Given the description of an element on the screen output the (x, y) to click on. 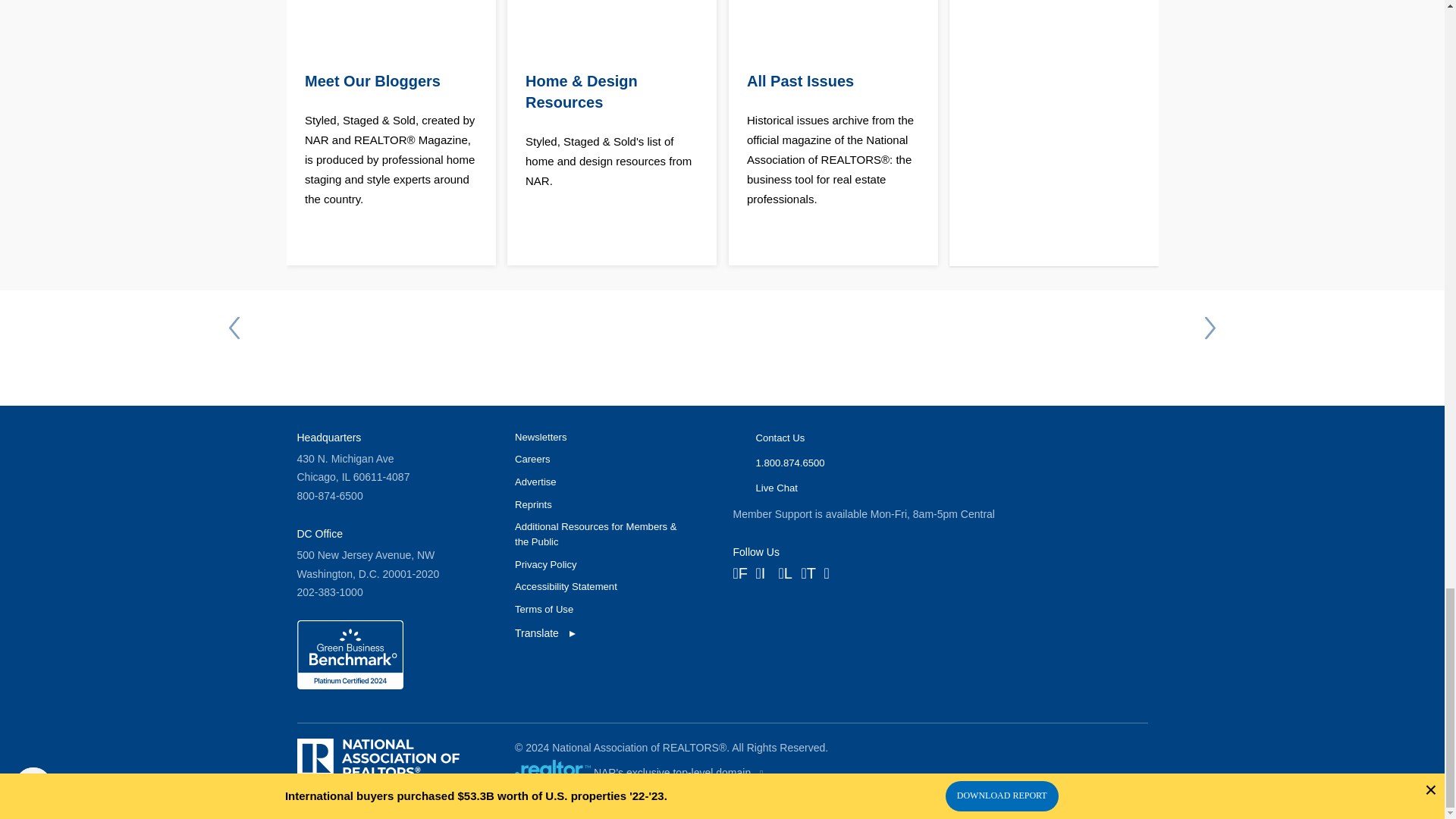
Green Business Benchmark (350, 685)
NAR's exclusive top-level domain. (553, 768)
